Given the description of an element on the screen output the (x, y) to click on. 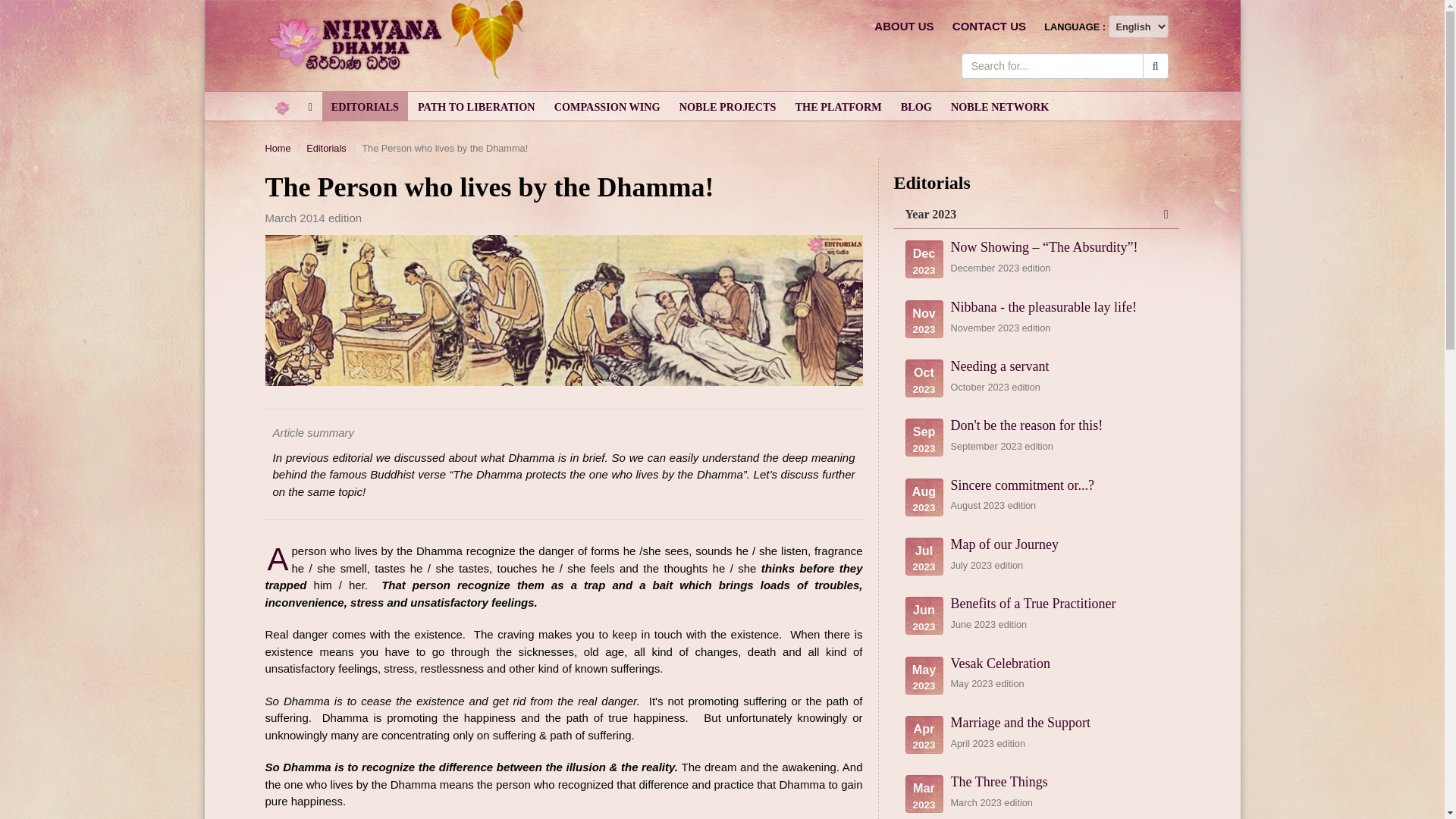
PATH TO LIBERATION (476, 105)
EDITORIALS (364, 105)
